Given the description of an element on the screen output the (x, y) to click on. 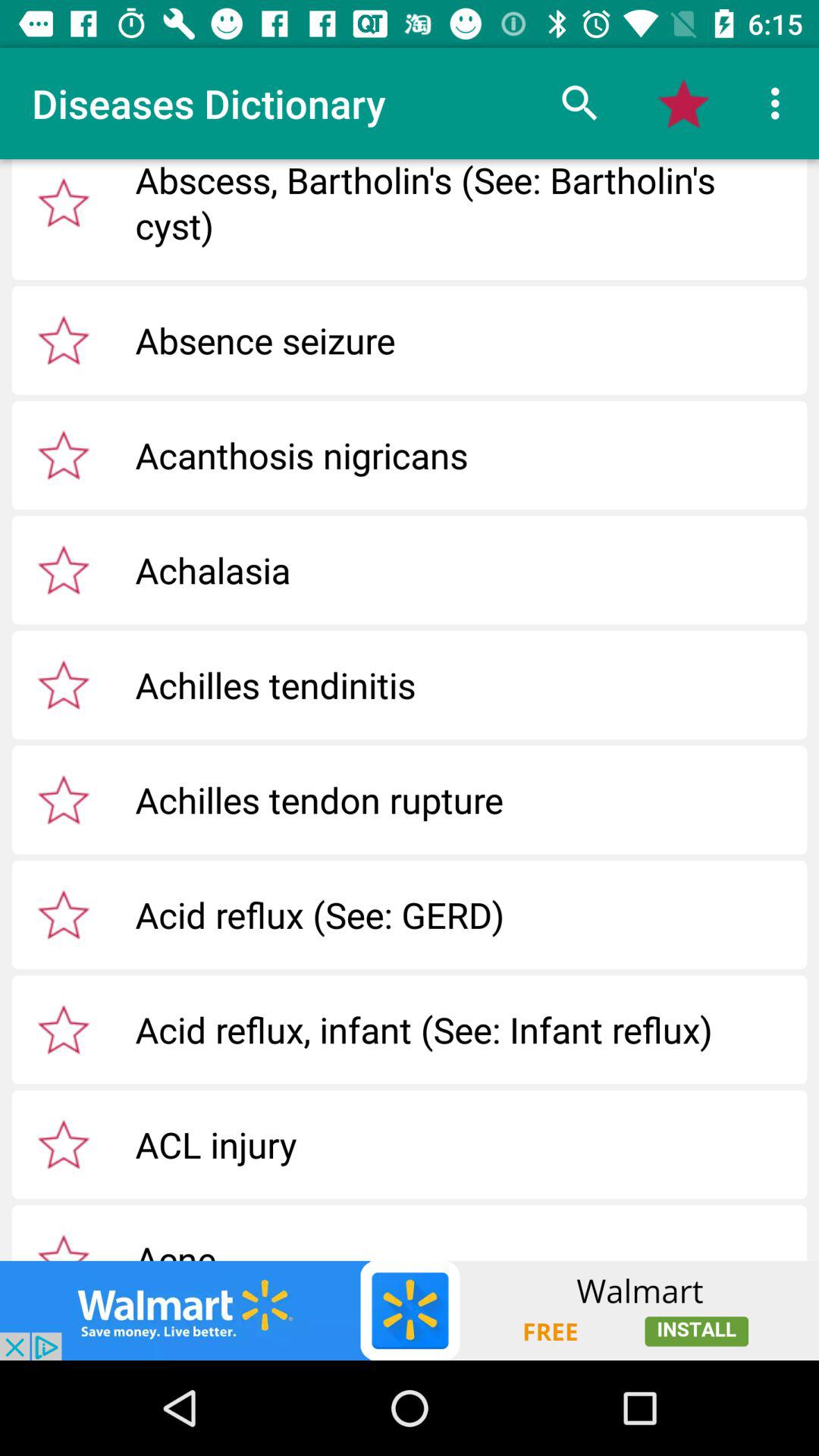
shows the favourite option (63, 339)
